Given the description of an element on the screen output the (x, y) to click on. 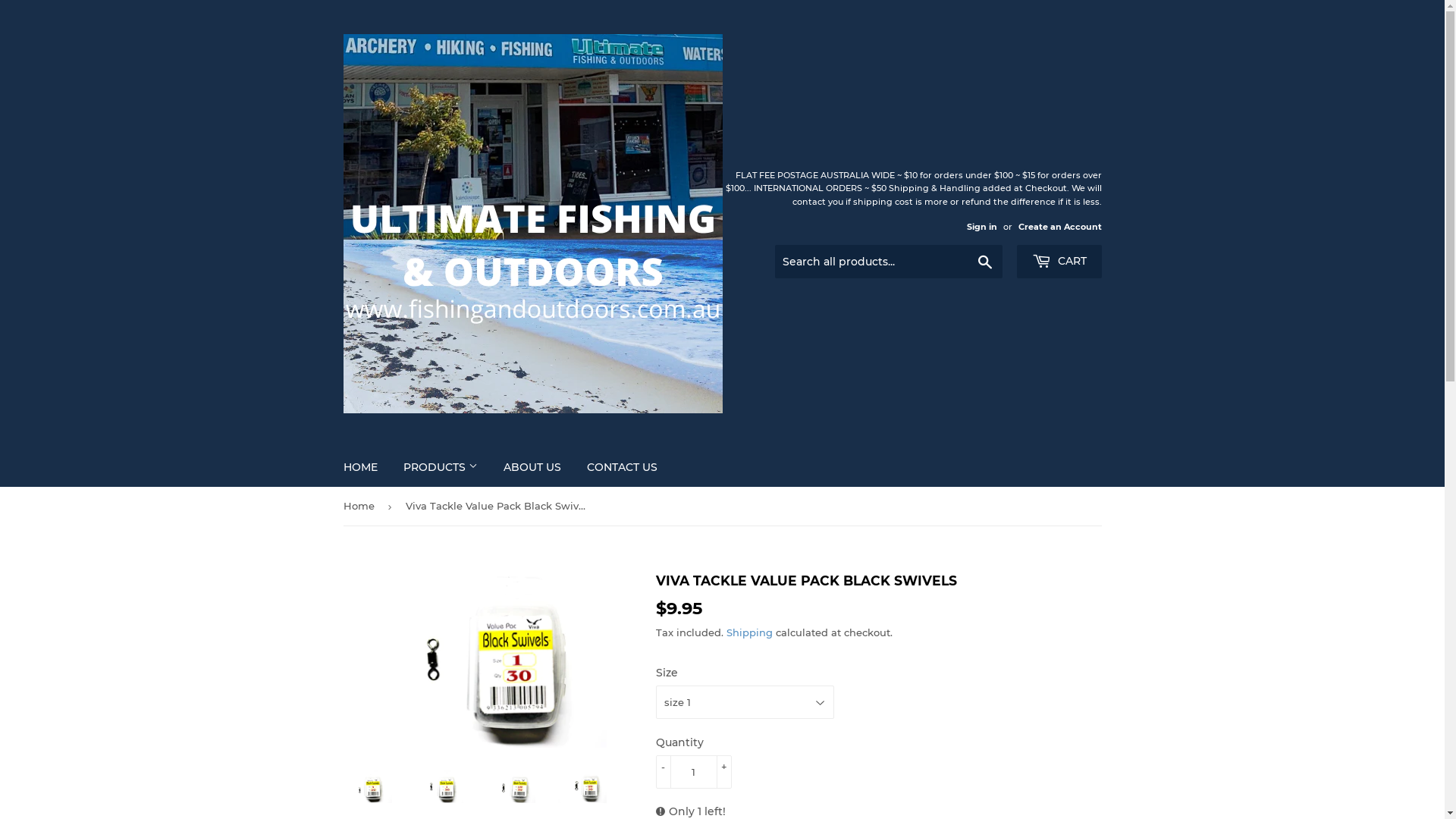
Create an Account Element type: text (1059, 226)
CONTACT US Element type: text (621, 466)
HOME Element type: text (360, 466)
Home Element type: text (360, 505)
Search Element type: text (984, 262)
Sign in Element type: text (981, 226)
ABOUT US Element type: text (531, 466)
Shipping Element type: text (749, 632)
CART Element type: text (1058, 261)
PRODUCTS Element type: text (439, 466)
